Given the description of an element on the screen output the (x, y) to click on. 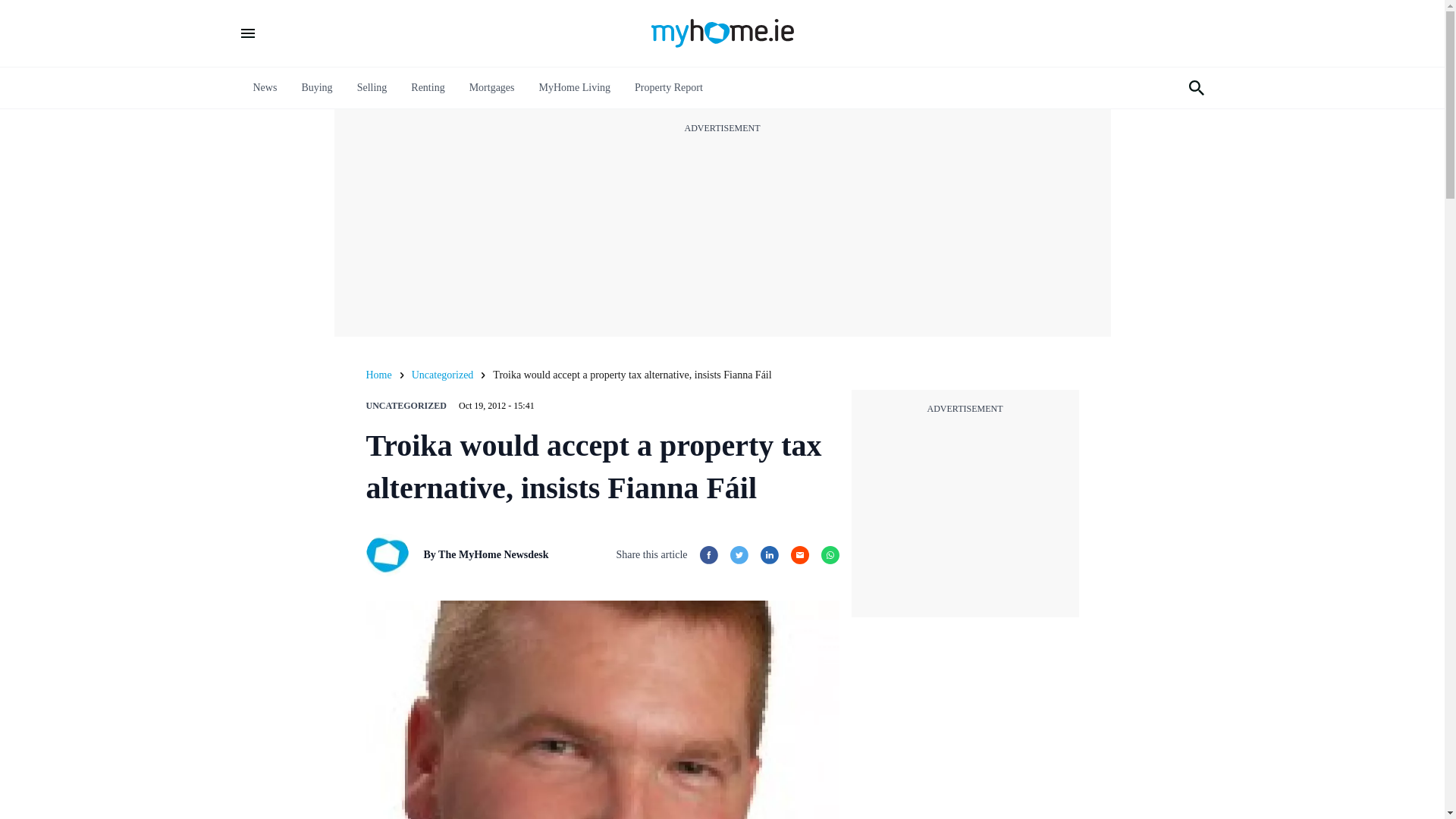
Buying (316, 87)
News (265, 87)
Mortgages (491, 87)
Renting (427, 87)
Property Report (668, 87)
Selling (371, 87)
MyHome Living (574, 87)
